Given the description of an element on the screen output the (x, y) to click on. 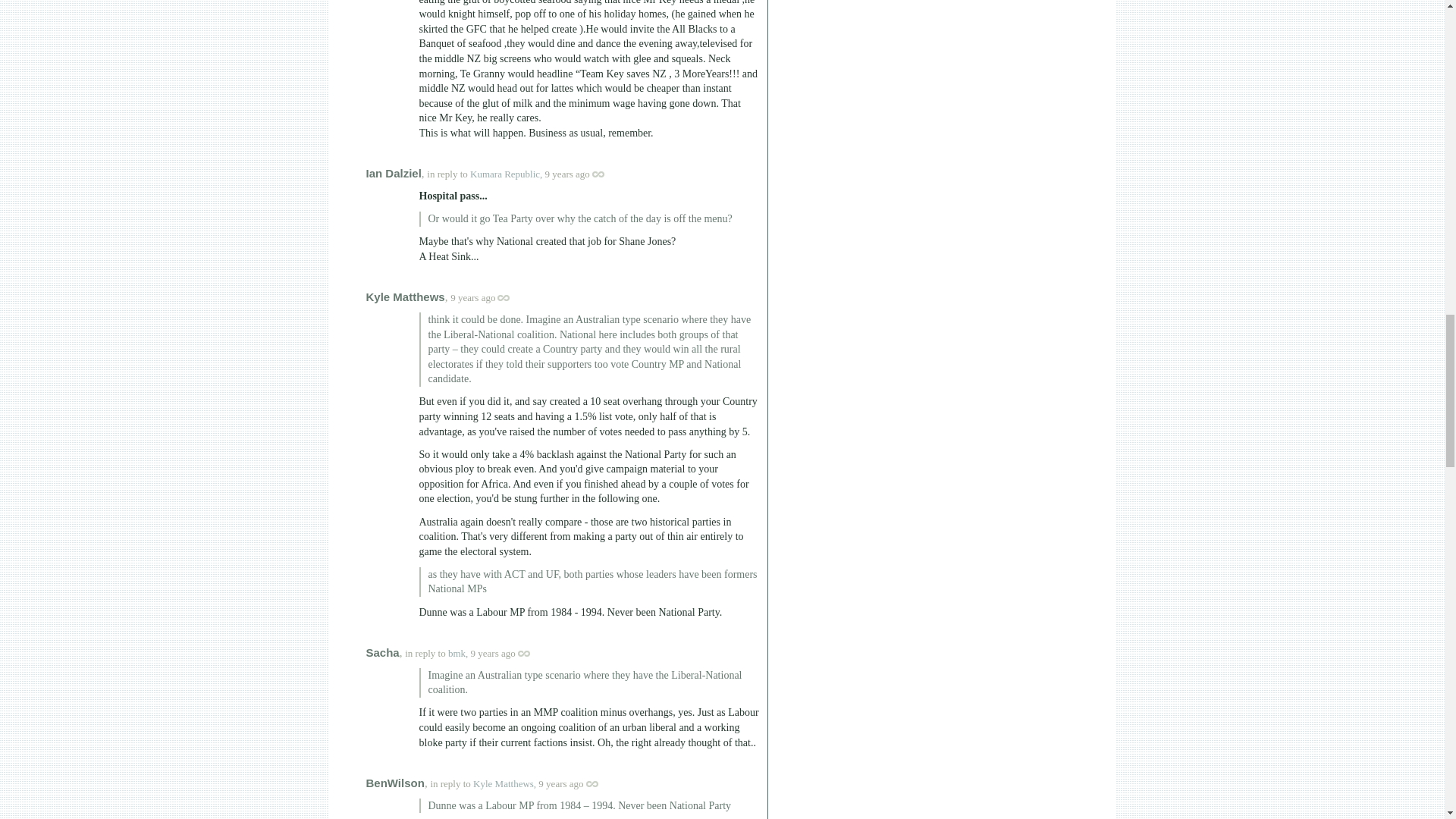
20:28 Oct 8, 2014 (492, 653)
15:04 Oct 7, 2014 (472, 297)
20:44 Oct 8, 2014 (560, 783)
10:14 Oct 7, 2014 (566, 173)
